Given the description of an element on the screen output the (x, y) to click on. 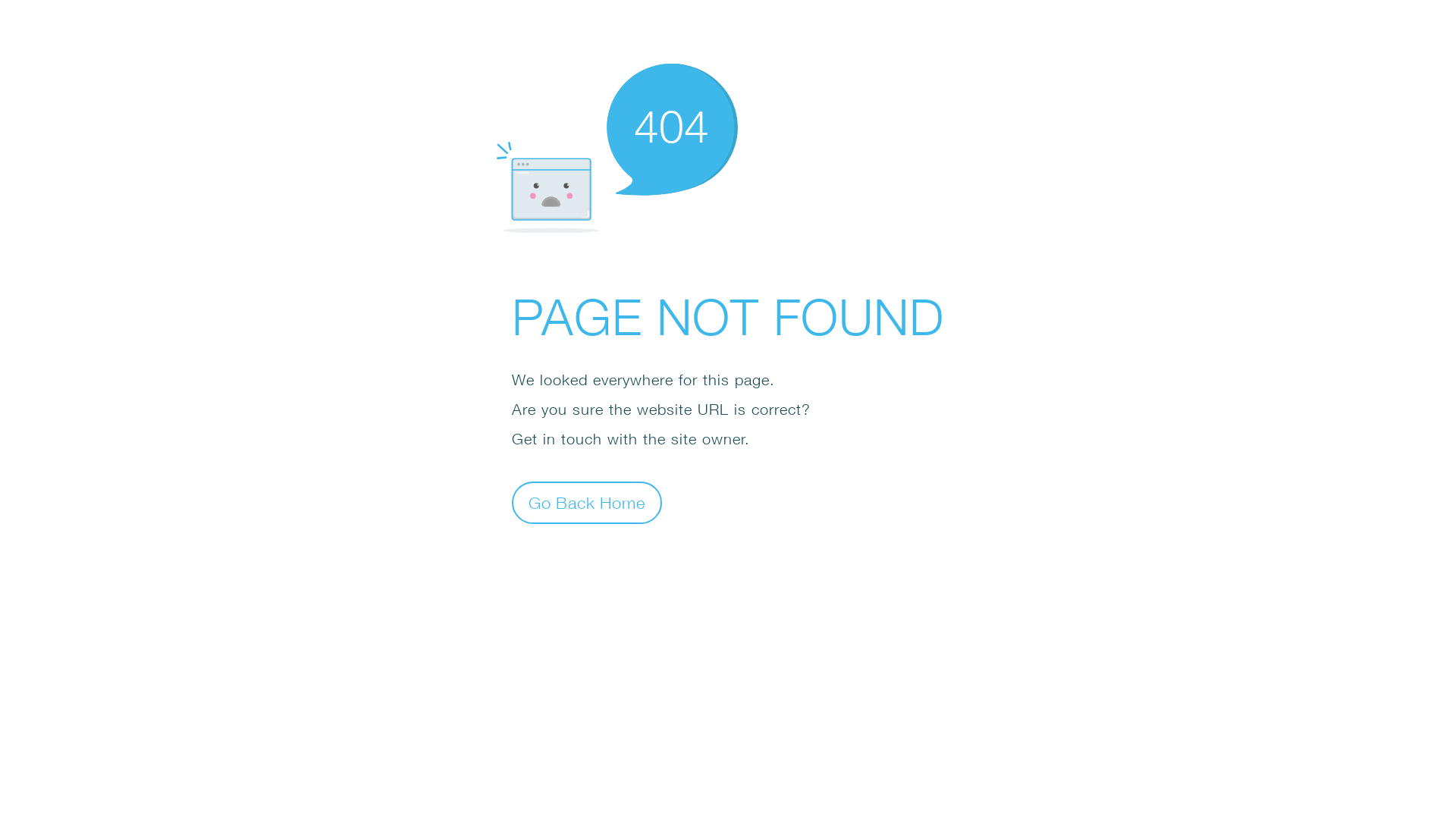
Go Back Home Element type: text (586, 502)
